Given the description of an element on the screen output the (x, y) to click on. 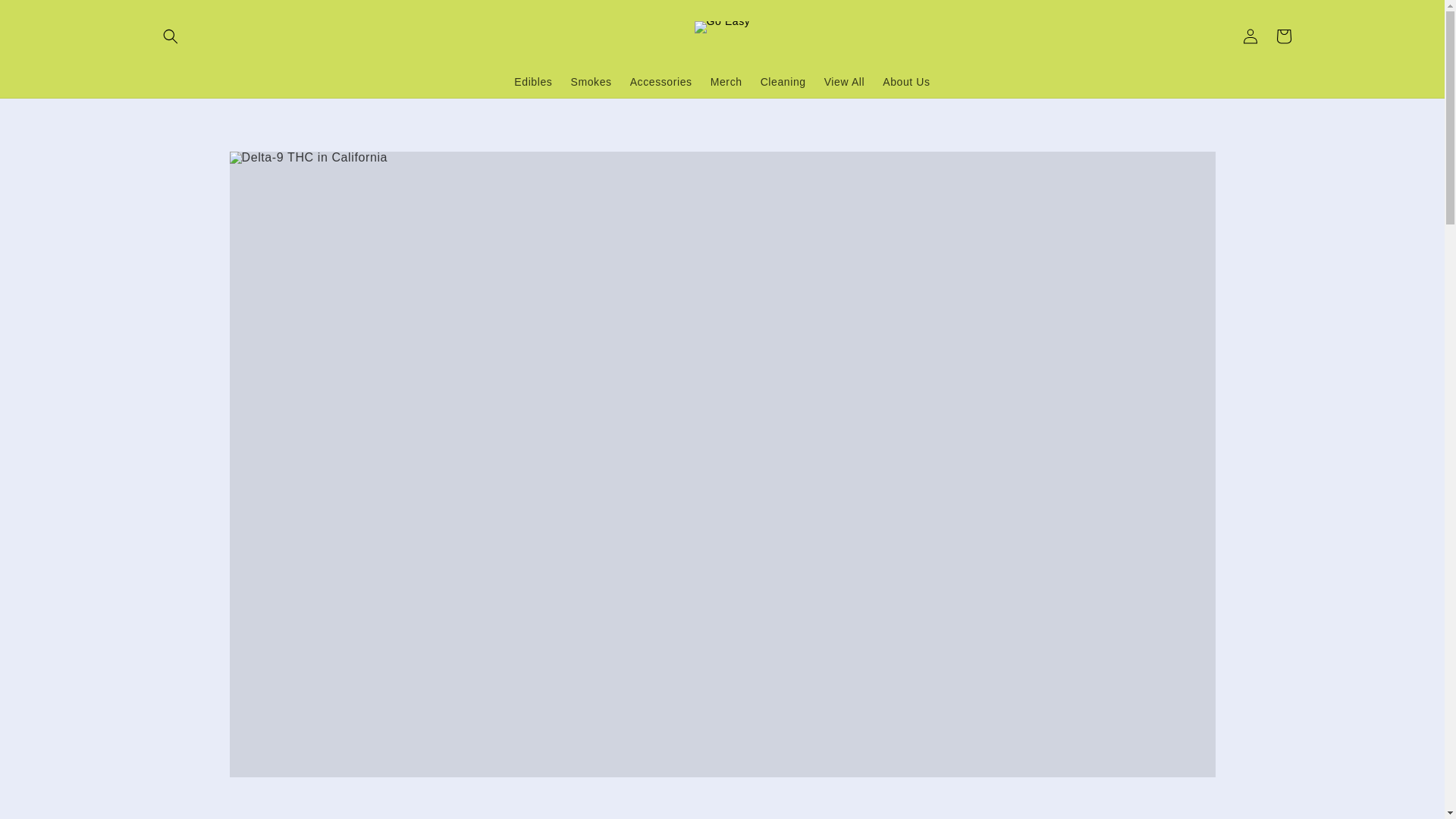
Log in (1249, 36)
Cleaning (783, 81)
View All (845, 81)
Edibles (532, 81)
Accessories (661, 81)
Cart (1283, 36)
Merch (726, 81)
About Us (906, 81)
Skip to content (45, 14)
Smokes (590, 81)
